Given the description of an element on the screen output the (x, y) to click on. 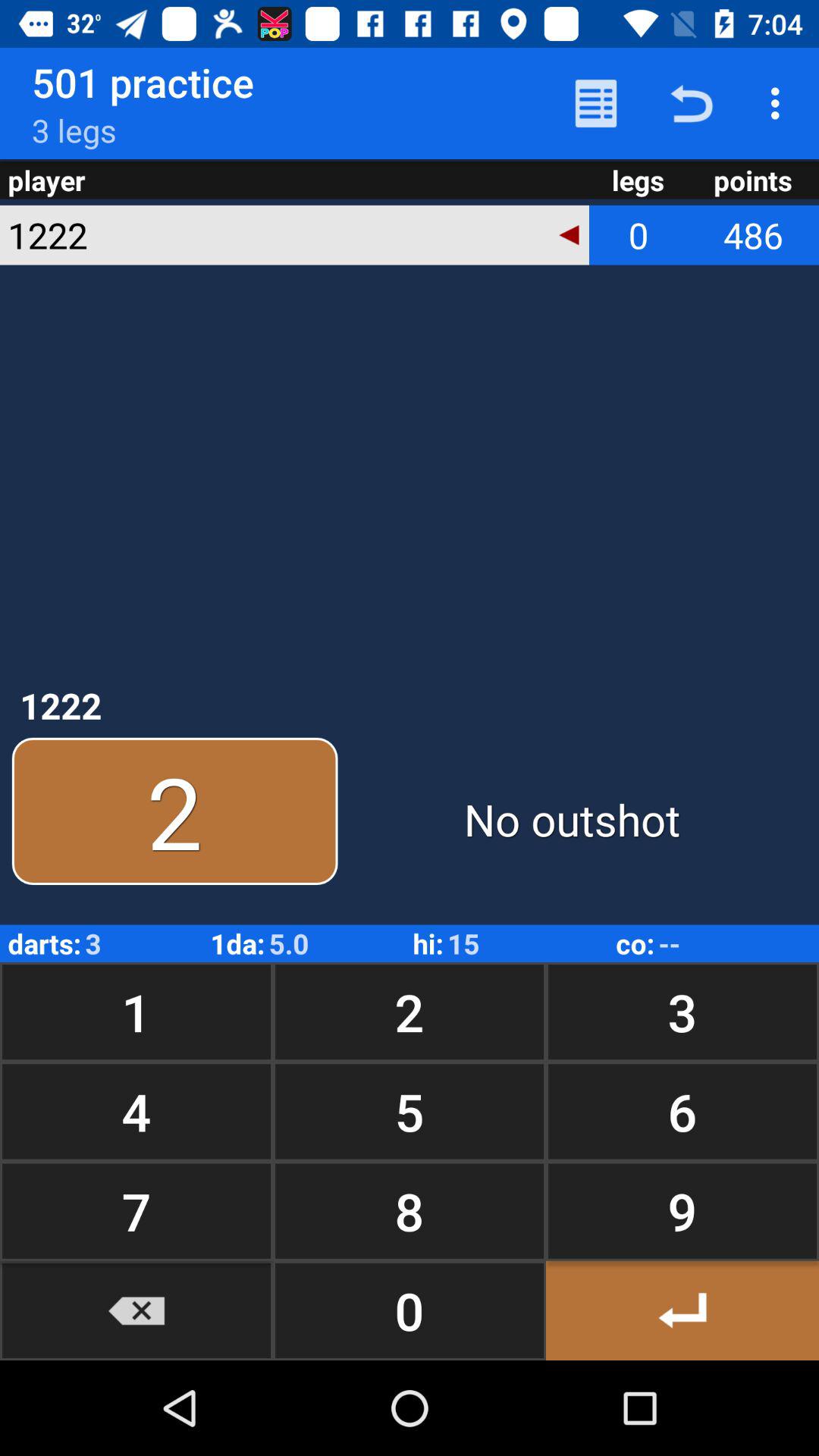
open the 7 (136, 1210)
